Given the description of an element on the screen output the (x, y) to click on. 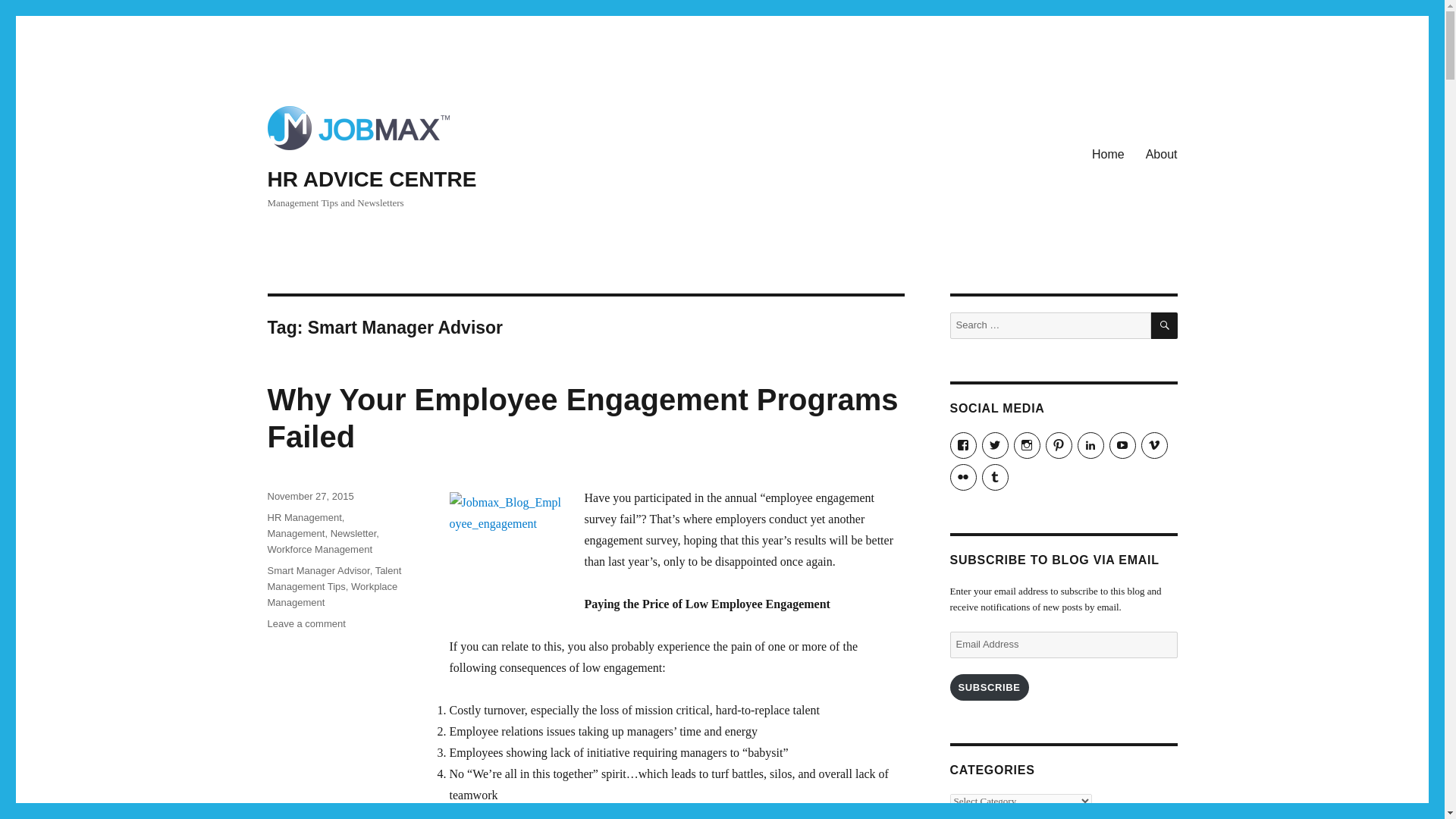
Workplace Management (331, 594)
HR ADVICE CENTRE (371, 178)
Management (295, 532)
About (1161, 154)
Newsletter (353, 532)
Talent Management Tips (333, 578)
Home (1108, 154)
Why Your Employee Engagement Programs Failed (582, 418)
Smart Manager Advisor (317, 570)
November 27, 2015 (309, 496)
Workforce Management (319, 549)
HR Management (303, 517)
